Given the description of an element on the screen output the (x, y) to click on. 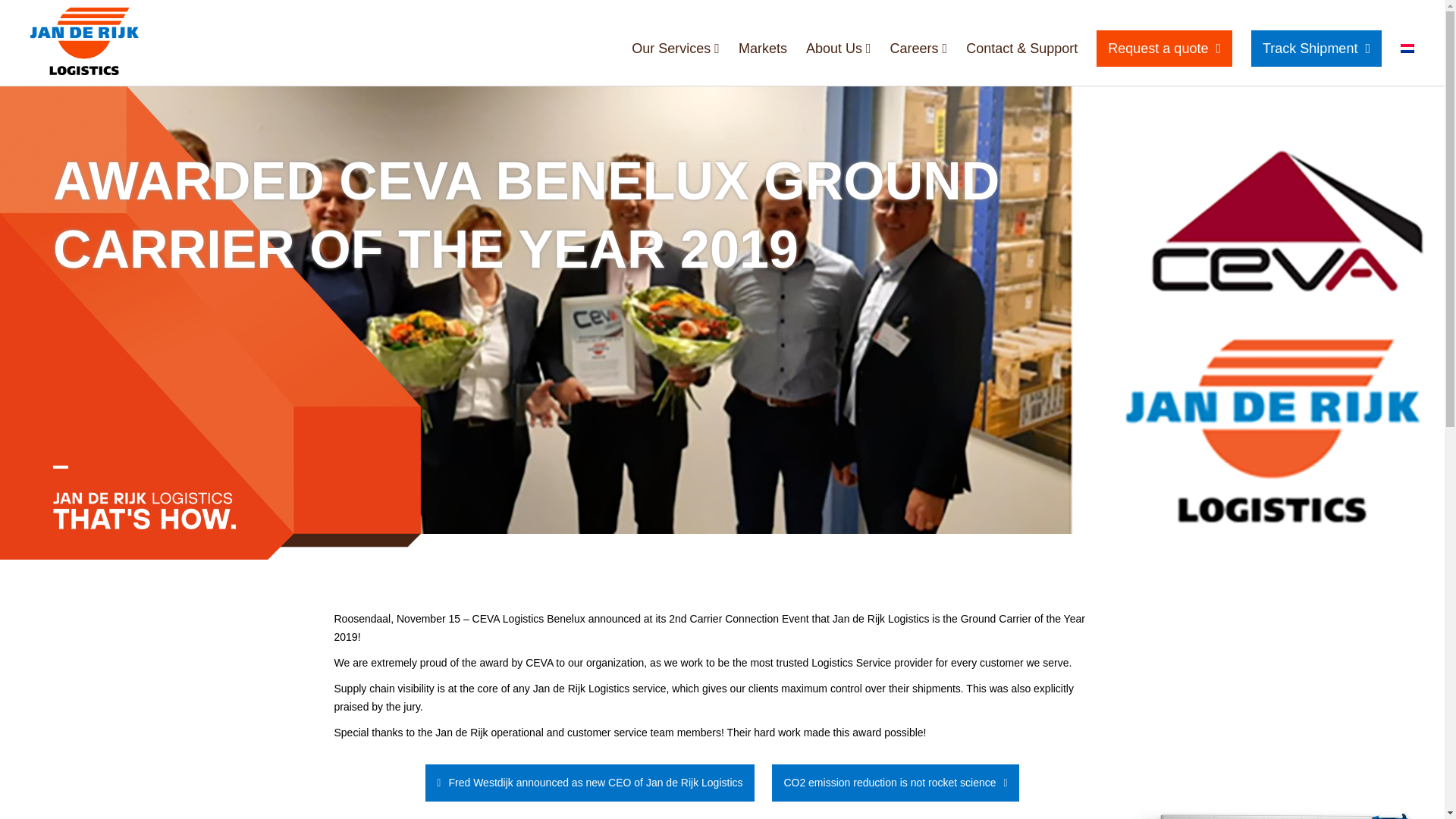
Careers (918, 48)
Track Shipment (1315, 48)
Fred Westdijk announced as new CEO of Jan de Rijk Logistics (589, 782)
Fred Westdijk announced as new CEO of Jan de Rijk Logistics (589, 782)
CO2 emission reduction is not rocket science (894, 782)
Our Services (675, 48)
Markets (762, 48)
Request a quote (1163, 48)
CO2 emission reduction is not rocket science (894, 782)
About Us (838, 48)
